Given the description of an element on the screen output the (x, y) to click on. 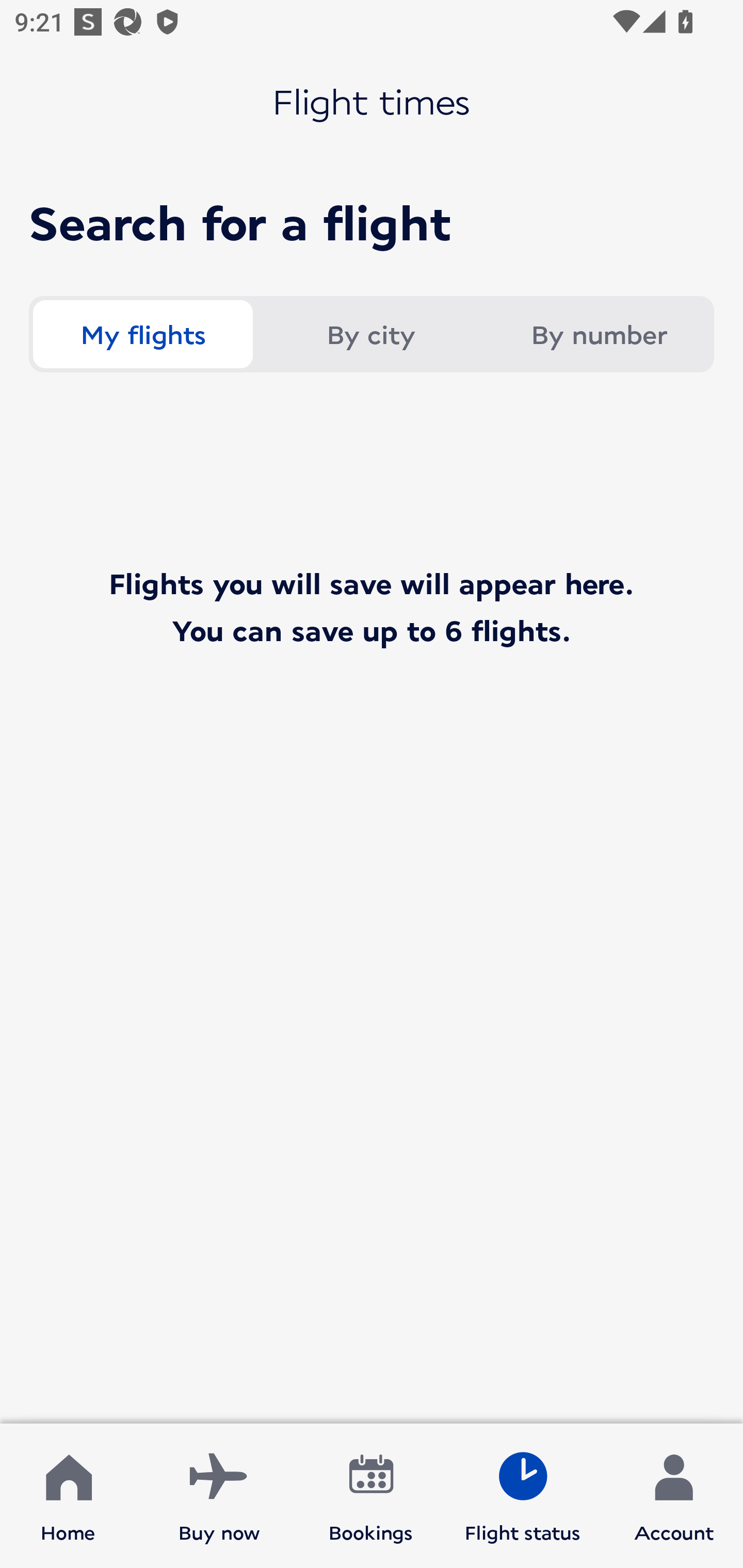
My flights (142, 334)
By city (370, 334)
By number (598, 334)
Home (68, 1495)
Buy now (219, 1495)
Bookings (370, 1495)
Account (674, 1495)
